Given the description of an element on the screen output the (x, y) to click on. 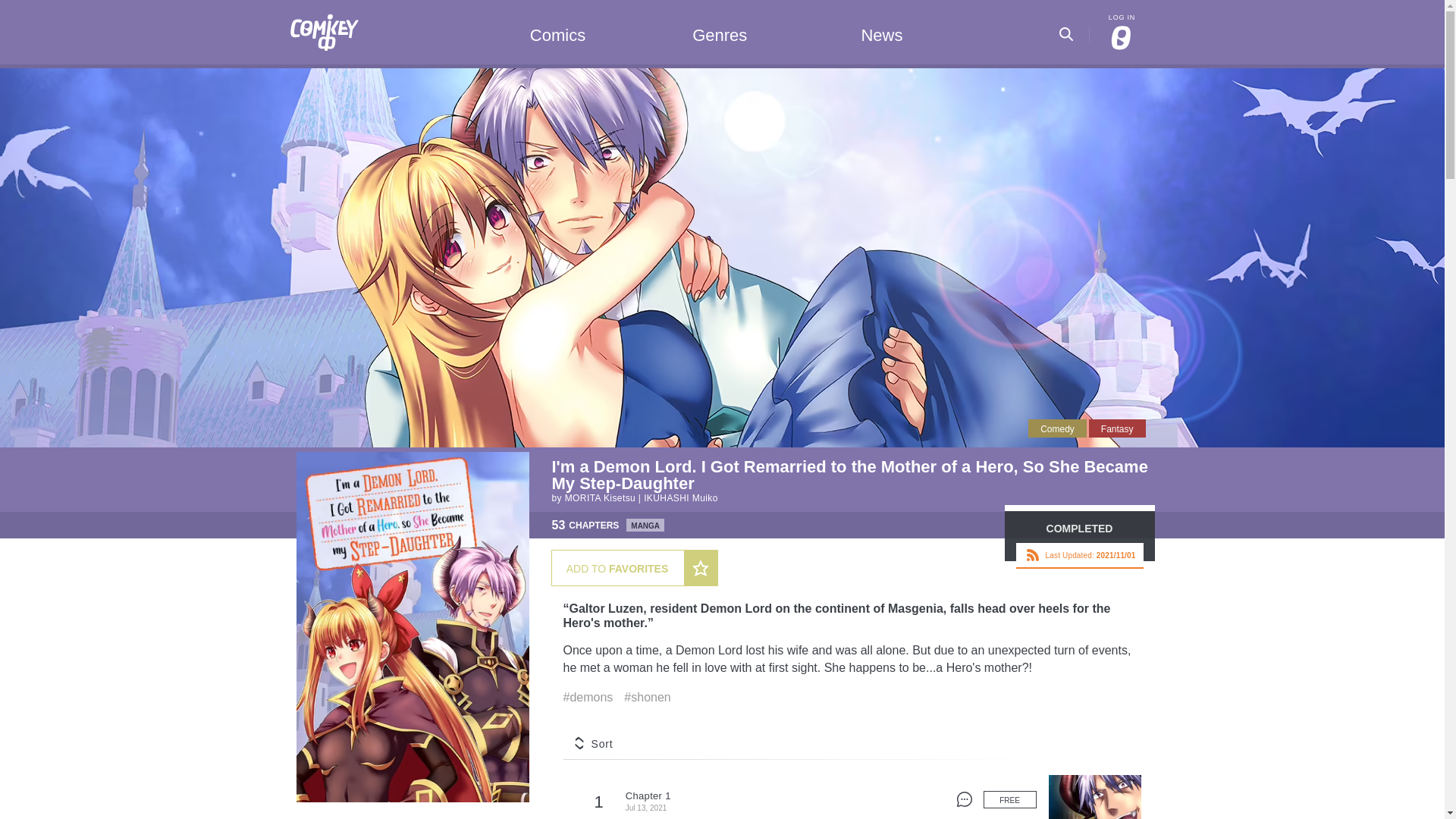
To laugh out loud! (1056, 428)
MANGA (644, 524)
Comics (558, 33)
Fantasy (1117, 428)
Genres (719, 33)
Search for Series (1066, 28)
ADD TO FAVORITES (633, 567)
Exploring new worlds (1117, 428)
Comedy (1056, 428)
Go Home (323, 17)
IKUHASHI Muiko (680, 498)
MORITA Kisetsu (599, 498)
News (881, 33)
